Given the description of an element on the screen output the (x, y) to click on. 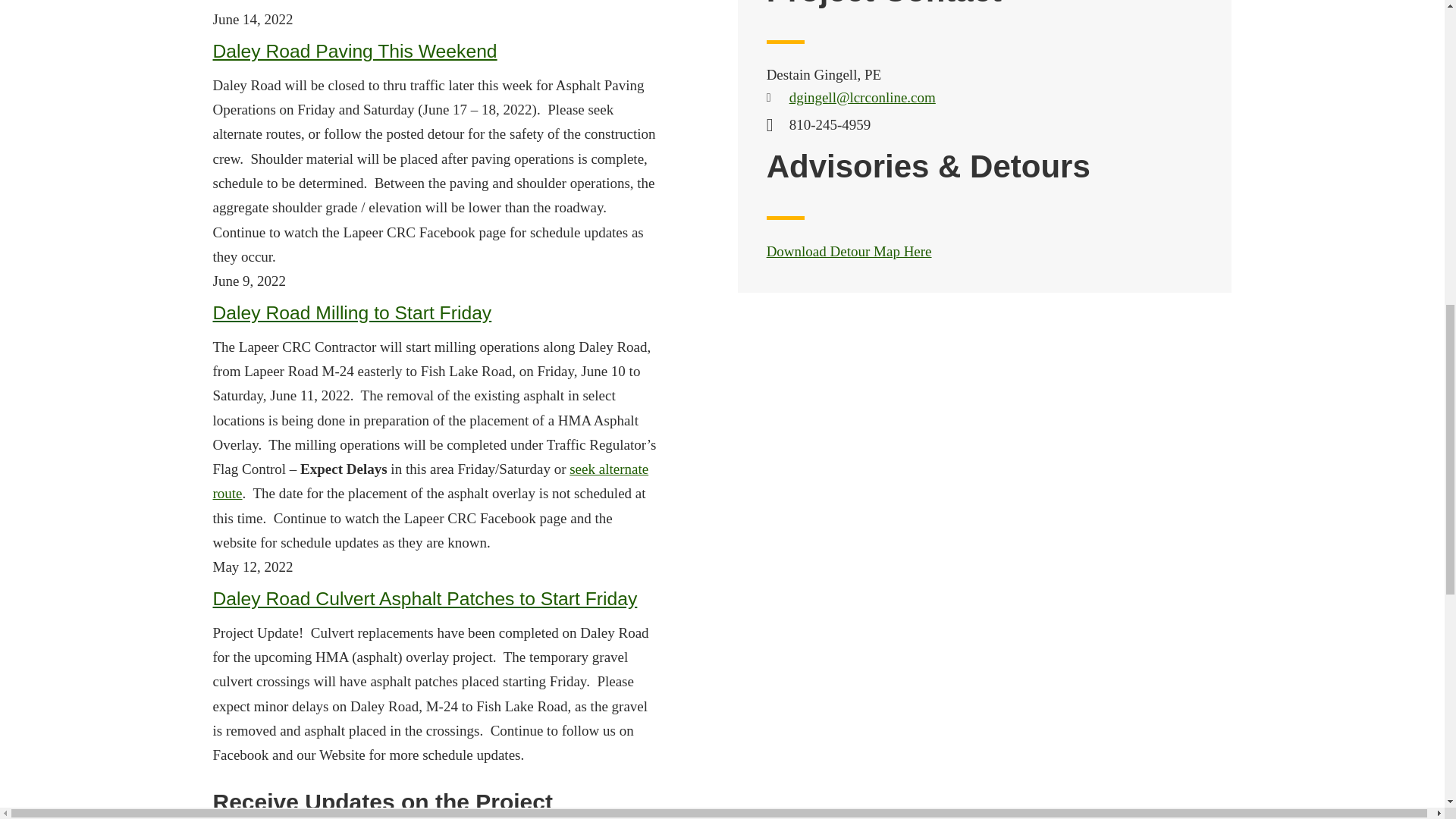
Daley Road Paving This Weekend (354, 50)
Daley Road Culvert Asphalt Patches to Start Friday (424, 598)
seek alternate route (429, 481)
Daley Road Milling to Start Friday (352, 312)
